Given the description of an element on the screen output the (x, y) to click on. 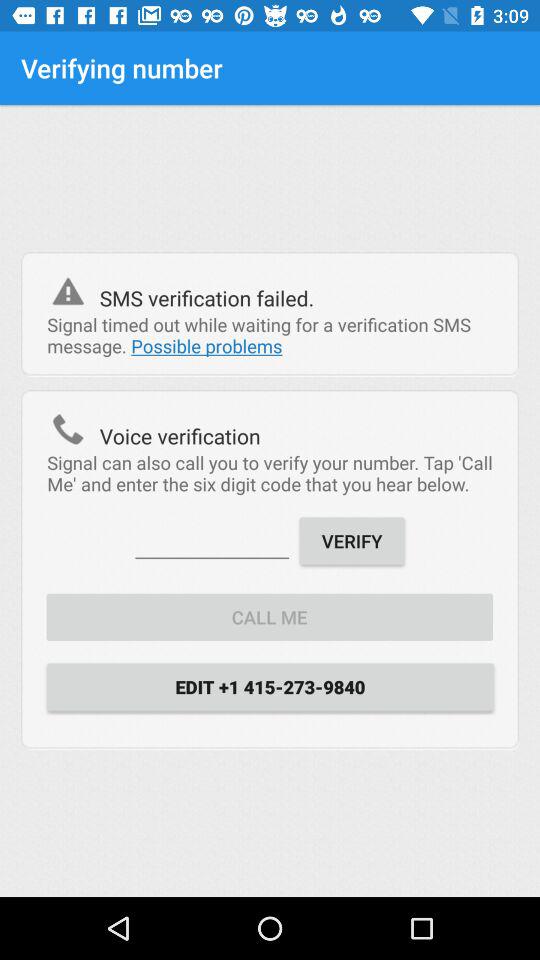
text input (212, 539)
